Given the description of an element on the screen output the (x, y) to click on. 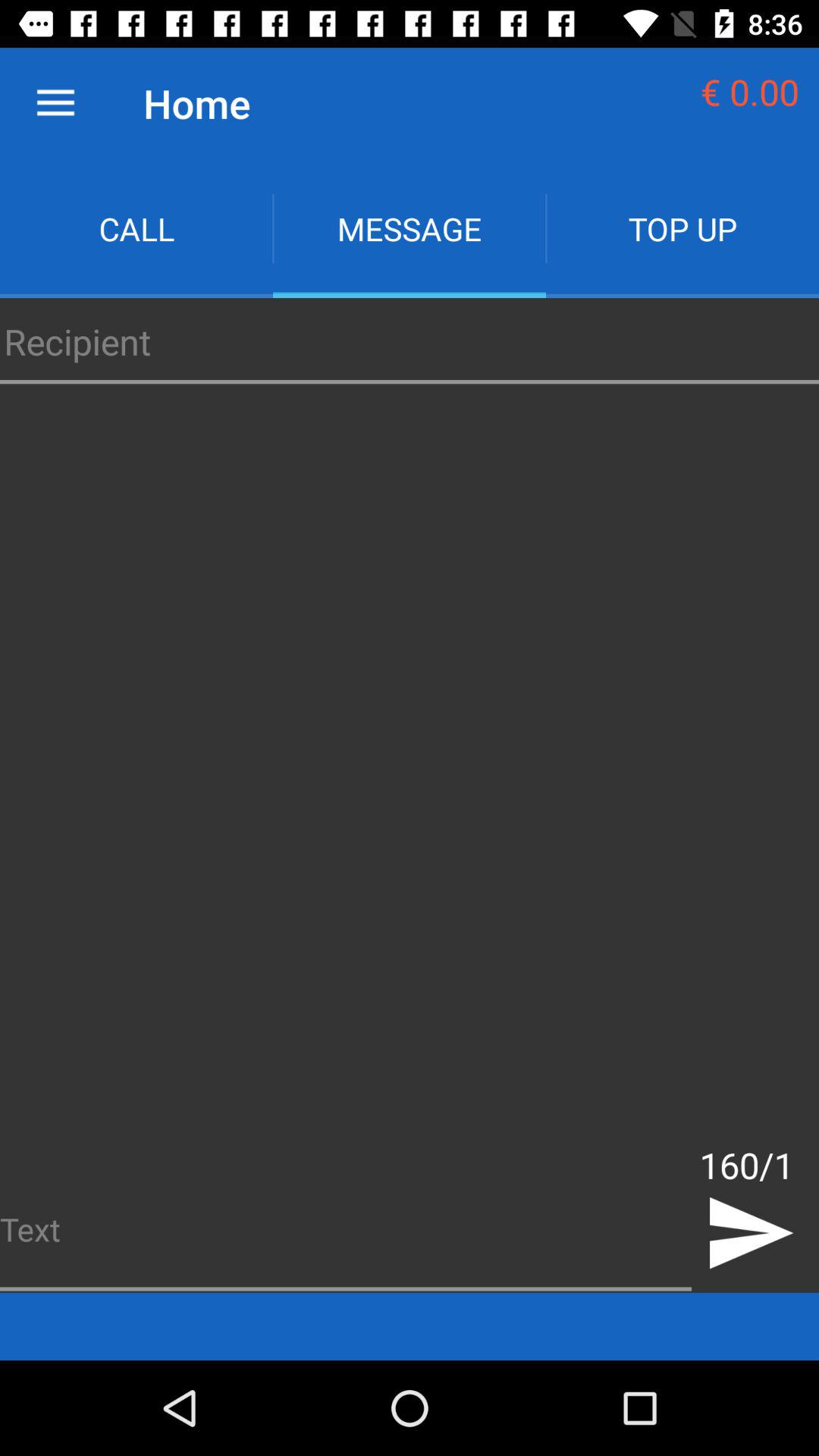
flip to top up (682, 228)
